Given the description of an element on the screen output the (x, y) to click on. 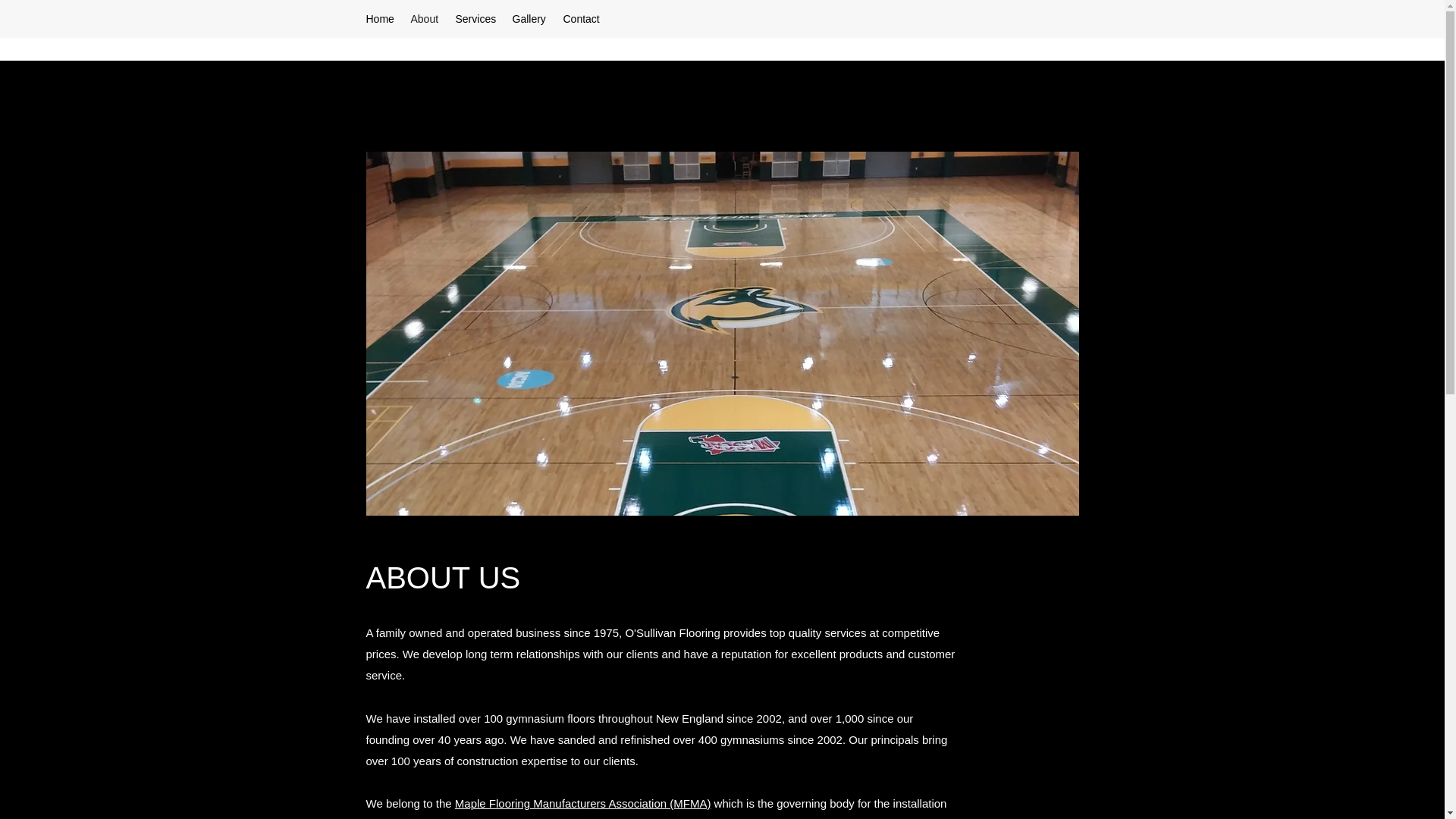
Gallery (530, 18)
Contact (582, 18)
Services (474, 18)
About (425, 18)
Home (380, 18)
